Given the description of an element on the screen output the (x, y) to click on. 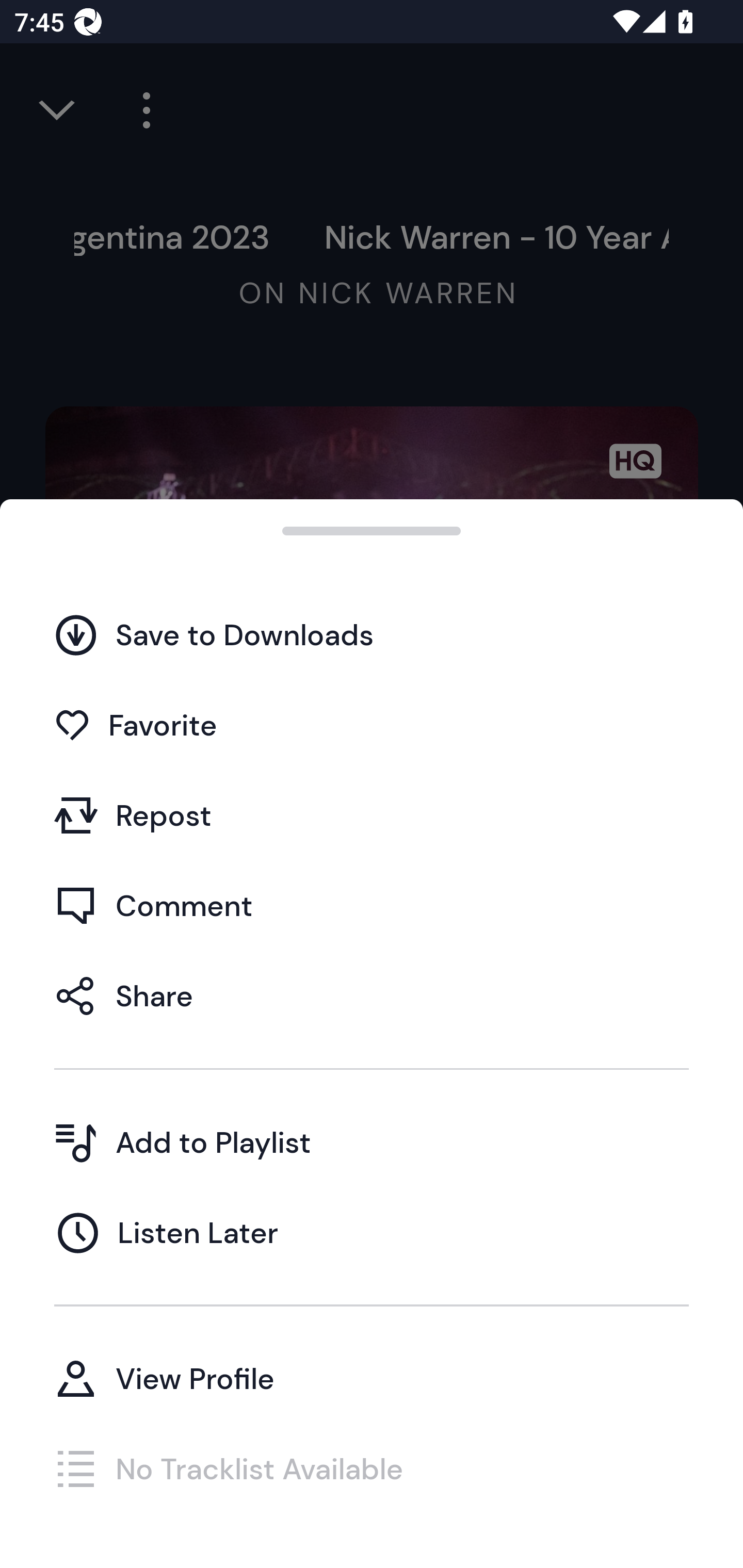
Close full player (58, 110)
Player more options button (139, 110)
Save to Downloads (371, 634)
Favorite (371, 724)
Repost (371, 814)
Comment (371, 905)
Share (371, 995)
Add to Playlist (371, 1141)
Listen Later (371, 1231)
View Profile (371, 1377)
